Given the description of an element on the screen output the (x, y) to click on. 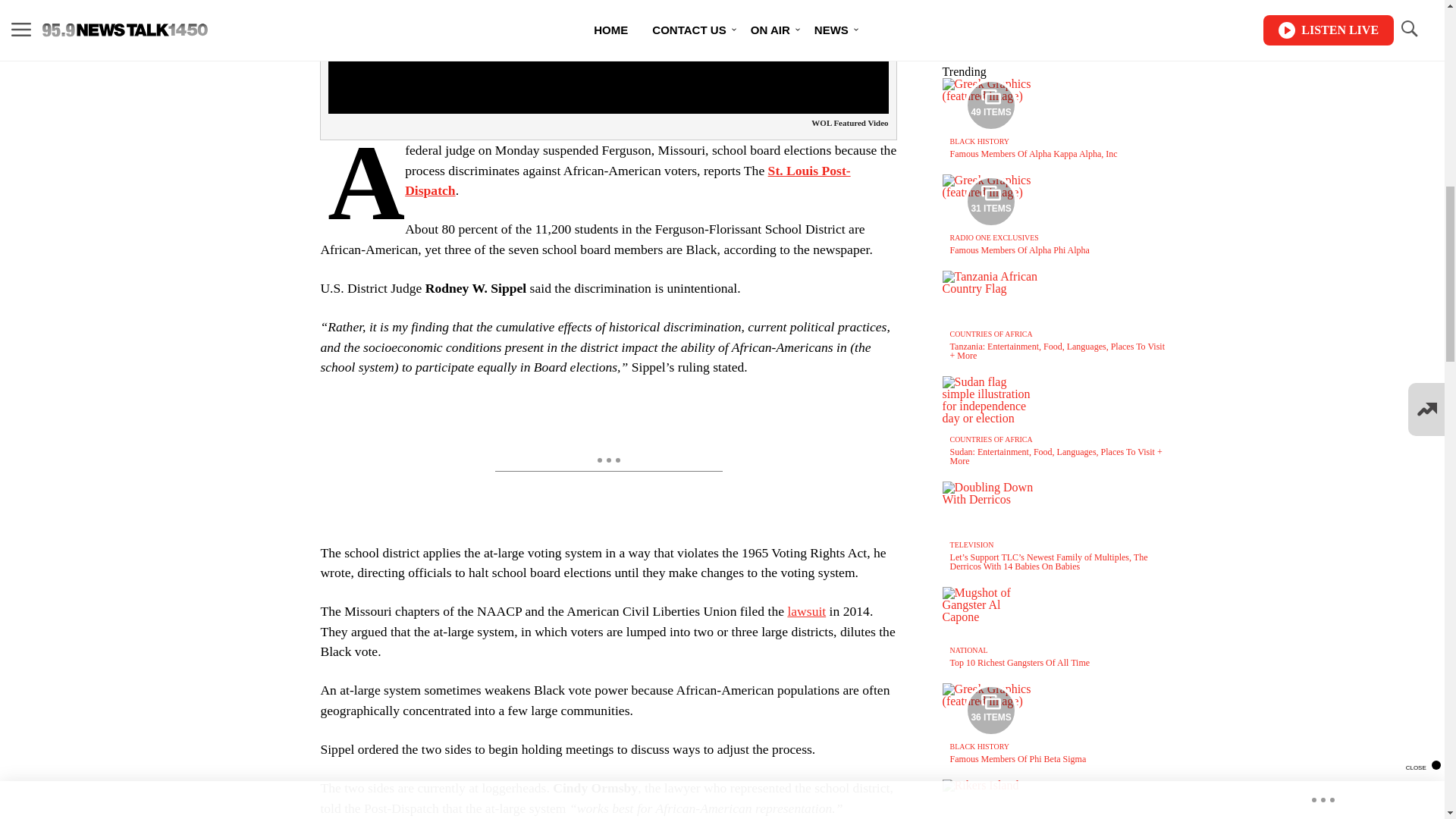
Media Playlist (990, 710)
Media Playlist (990, 201)
Media Playlist (990, 104)
lawsuit (806, 611)
St. Louis Post-Dispatch (627, 180)
